Given the description of an element on the screen output the (x, y) to click on. 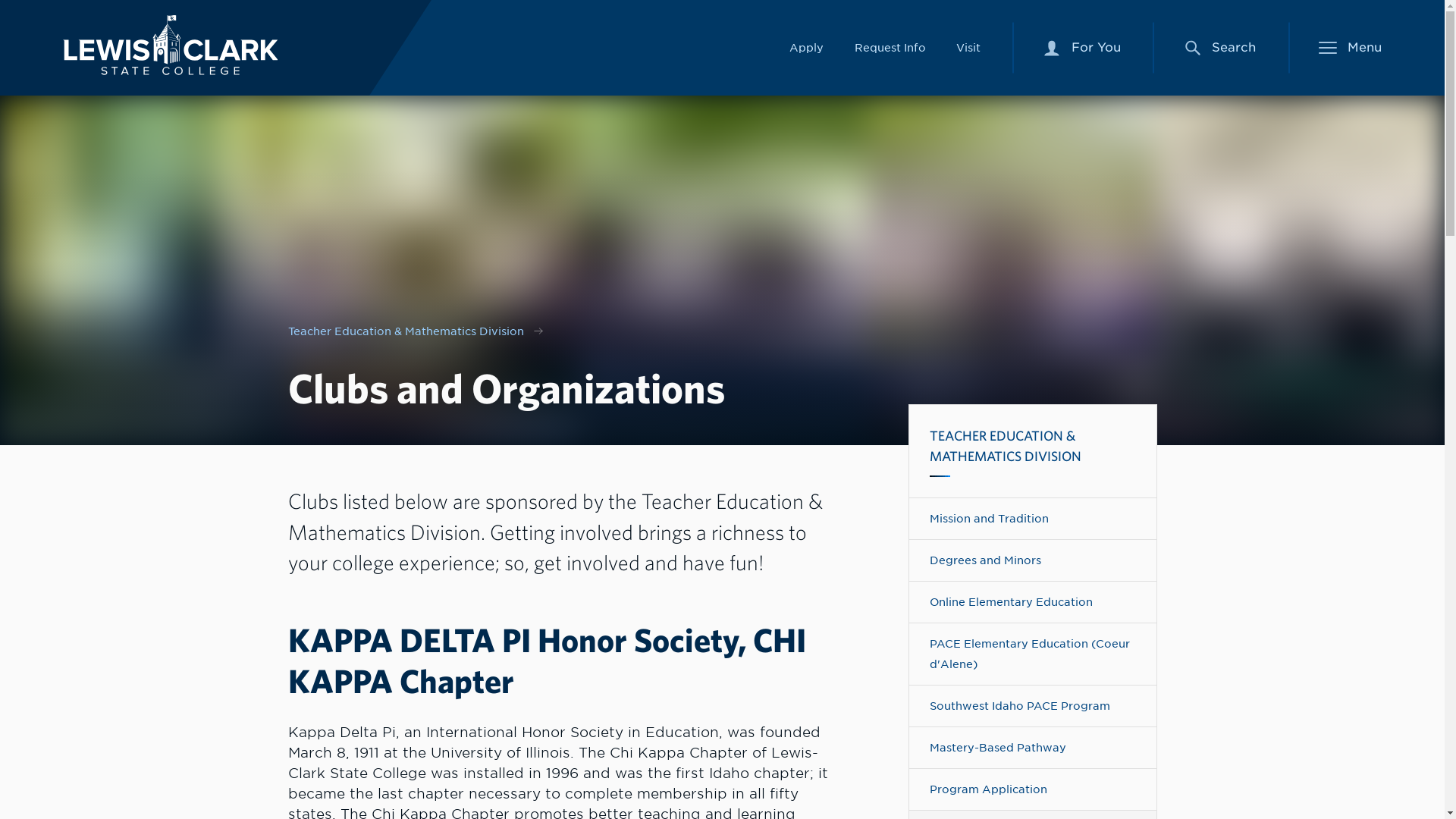
search-find--solid (1191, 47)
Lewis-Clark State College (1082, 47)
user--solid (170, 45)
Request Info (1051, 48)
Apply (888, 46)
Visit (806, 46)
